Given the description of an element on the screen output the (x, y) to click on. 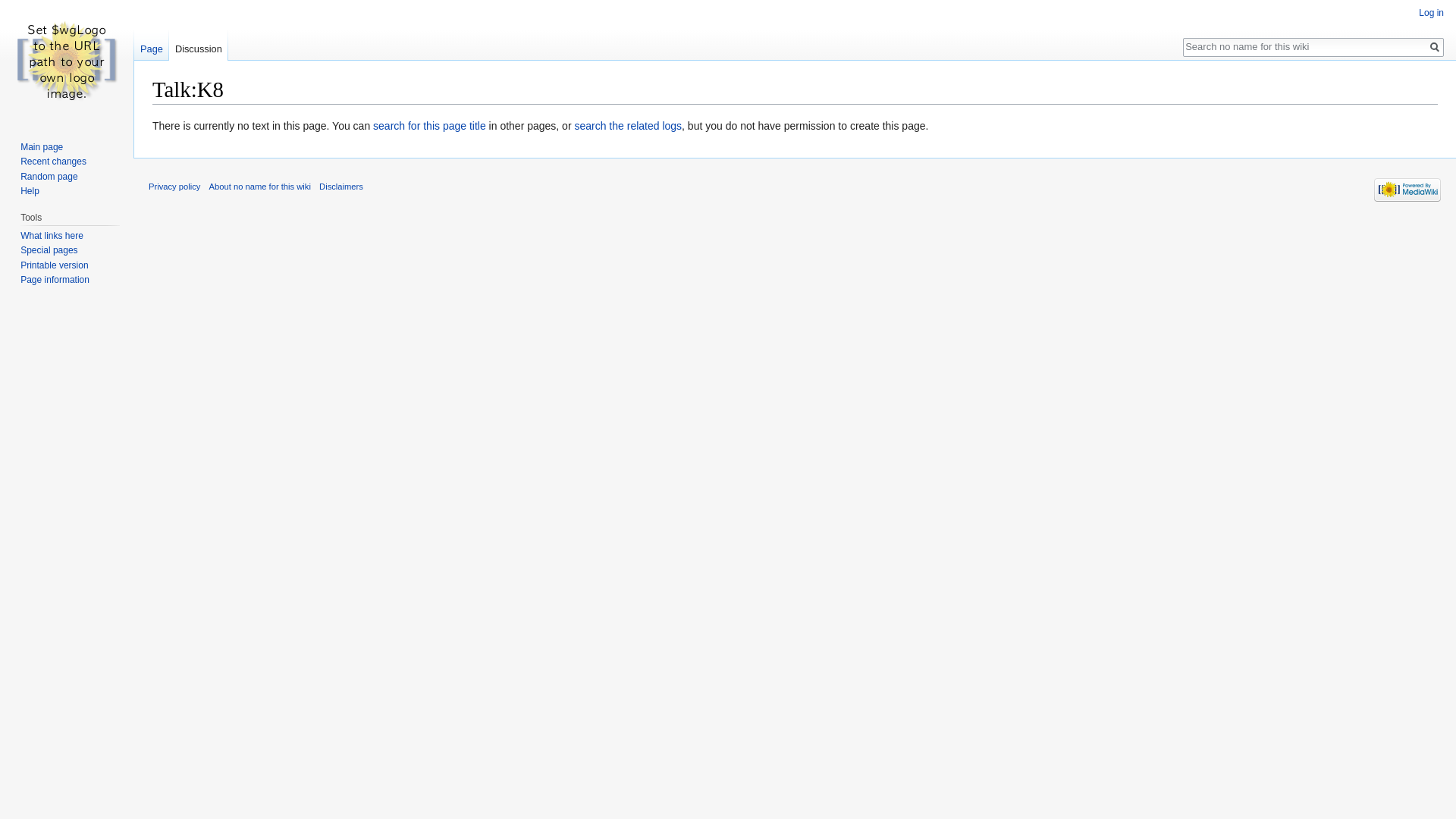
Visit the main page Element type: hover (66, 60)
Go Element type: text (1434, 46)
search for this page title Element type: text (429, 125)
Main page Element type: text (41, 146)
Recent changes Element type: text (53, 161)
Privacy policy Element type: text (174, 186)
Special pages Element type: text (48, 249)
Discussion Element type: text (198, 45)
Printable version Element type: text (53, 265)
search the related logs Element type: text (627, 125)
Page Element type: text (151, 45)
Page information Element type: text (54, 279)
Disclaimers Element type: text (341, 186)
Random page Element type: text (48, 176)
About no name for this wiki Element type: text (259, 186)
What links here Element type: text (51, 235)
Go to a page with this exact name if it exists Element type: hover (1434, 46)
Search no name for this wiki [alt-shift-f] Element type: hover (1304, 45)
Help Element type: text (29, 190)
Log in Element type: text (1430, 12)
